Given the description of an element on the screen output the (x, y) to click on. 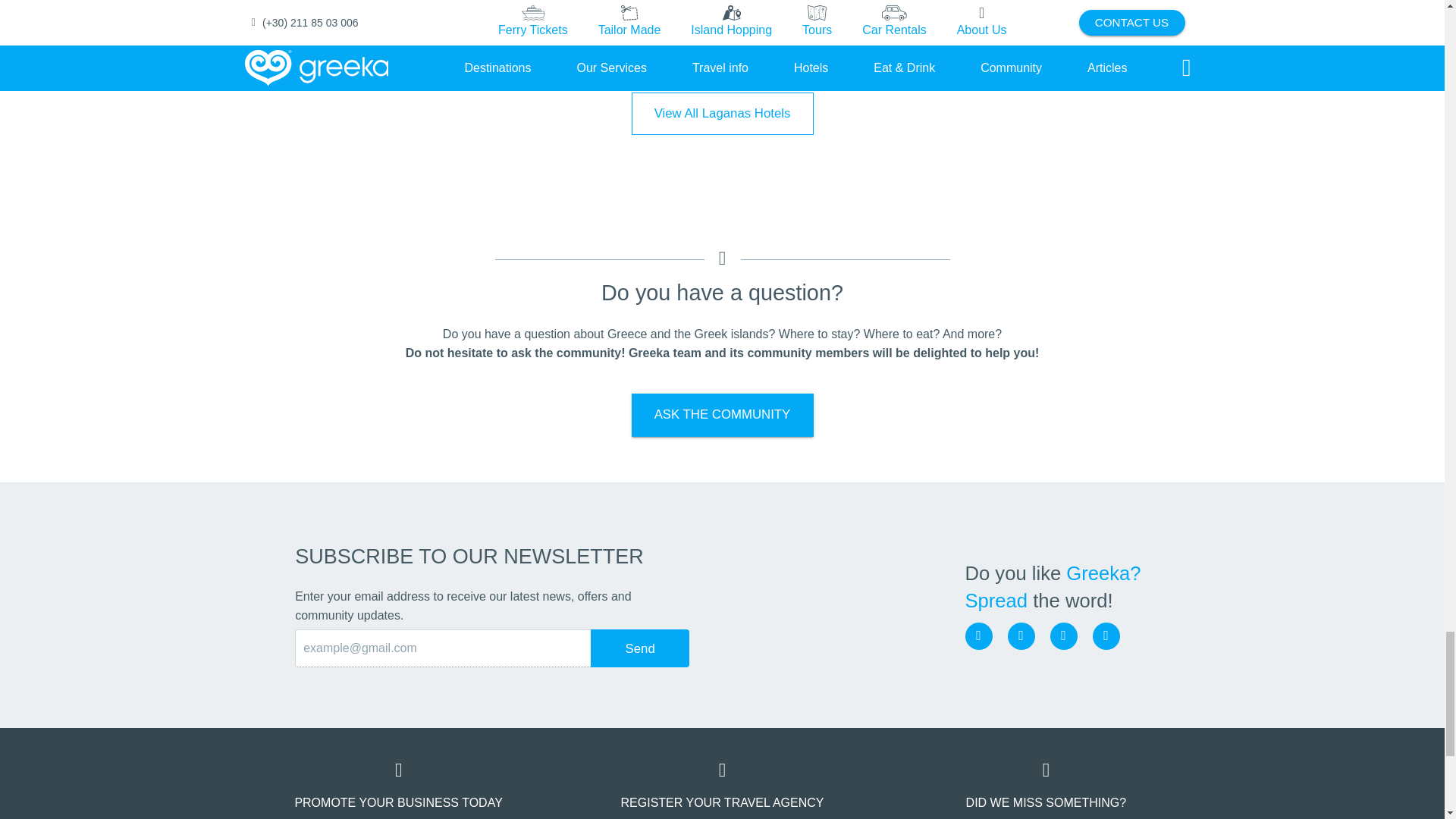
Send (639, 648)
